Given the description of an element on the screen output the (x, y) to click on. 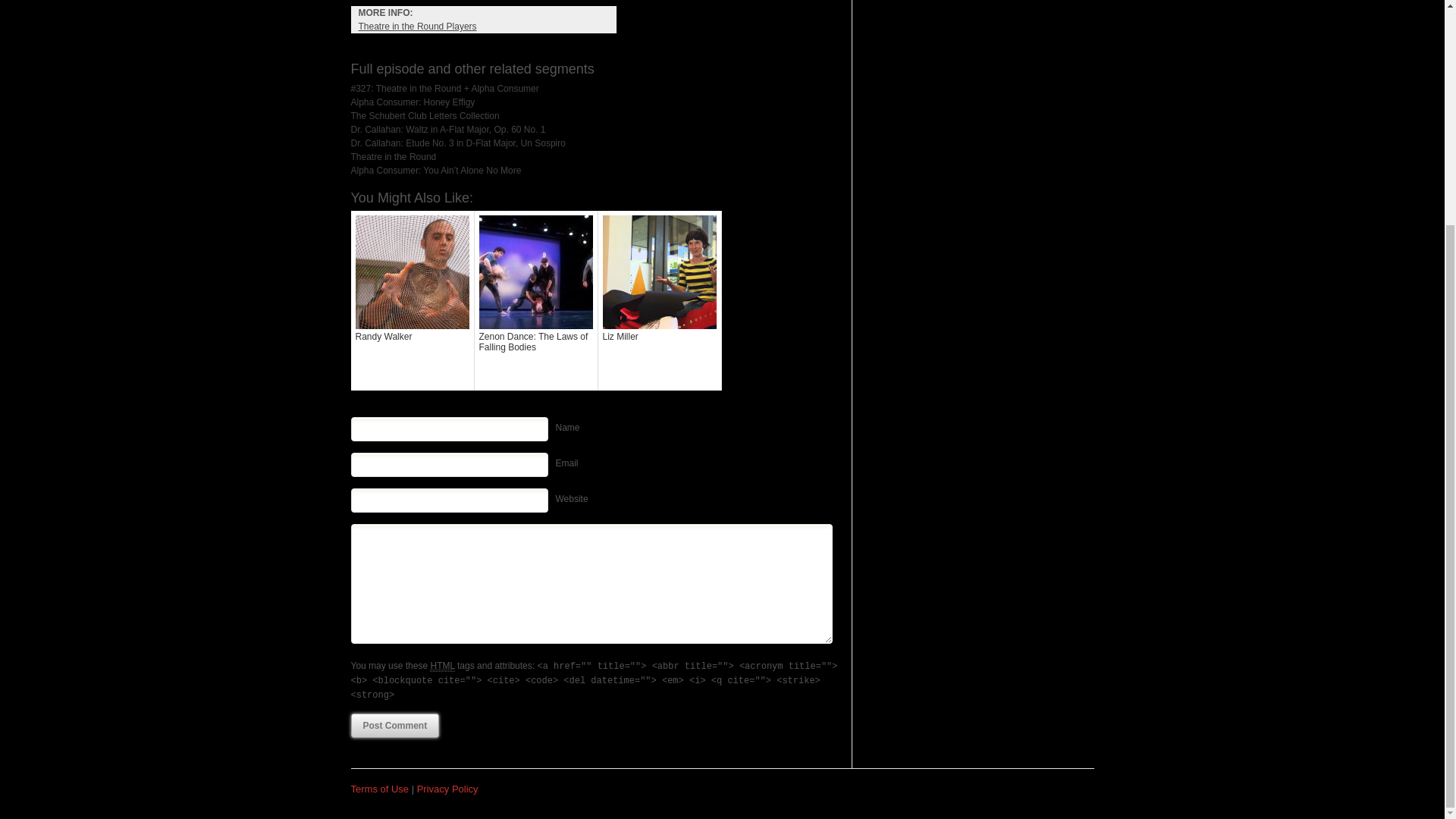
HyperText Markup Language (441, 665)
Zenon Dance: The Laws of Falling Bodies (536, 300)
Post Comment (394, 725)
Dr. Callahan: Etude No. 3 in D-Flat Major, Un Sospiro (457, 143)
Theatre in the Round Players (417, 26)
Privacy Policy (447, 788)
Alpha Consumer: Honey Effigy (412, 102)
Dr. Callahan: Waltz in A-Flat Major, Op. 60 No. 1 (447, 129)
Randy Walker (412, 300)
The Schubert Club Letters Collection (424, 115)
Liz Miller (658, 300)
Terms of Use (379, 788)
Post Comment (394, 725)
Theatre in the Round (392, 156)
